Given the description of an element on the screen output the (x, y) to click on. 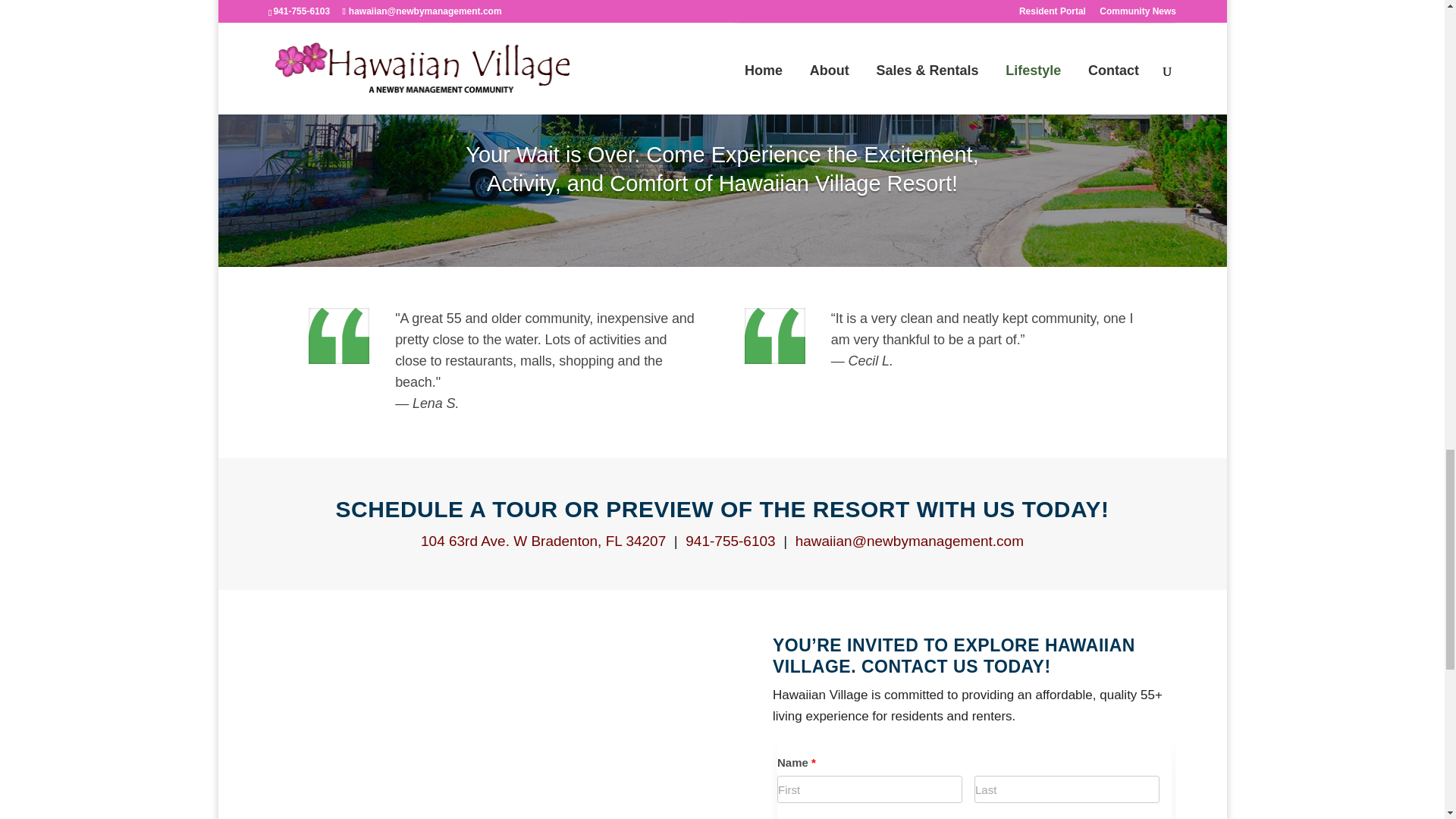
104 63rd Ave. W Bradenton, FL 34207 (542, 540)
941-755-6103 (729, 540)
VIEW COMMUNITY NEWS (378, 7)
